Given the description of an element on the screen output the (x, y) to click on. 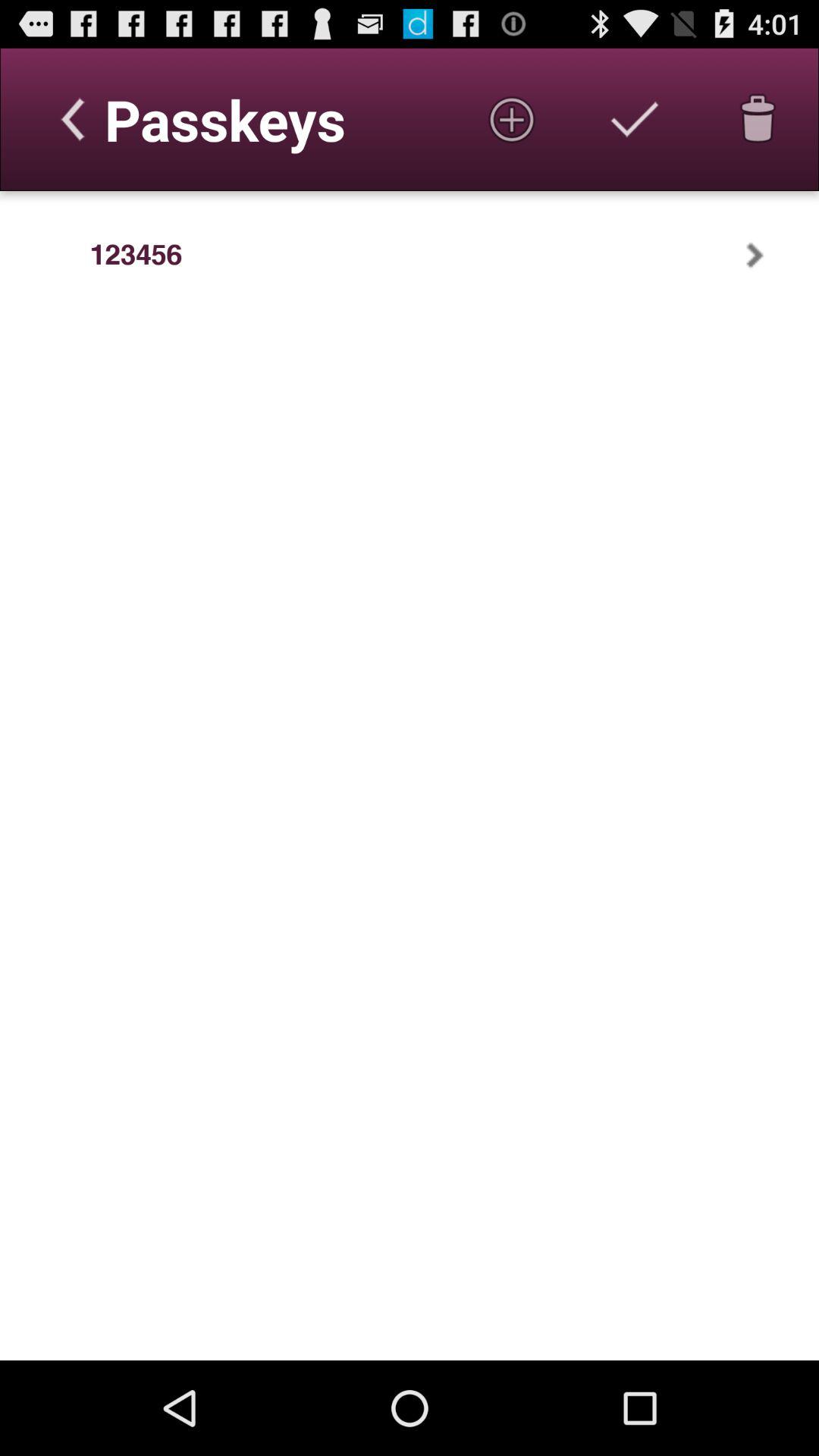
delete passkey (757, 119)
